Given the description of an element on the screen output the (x, y) to click on. 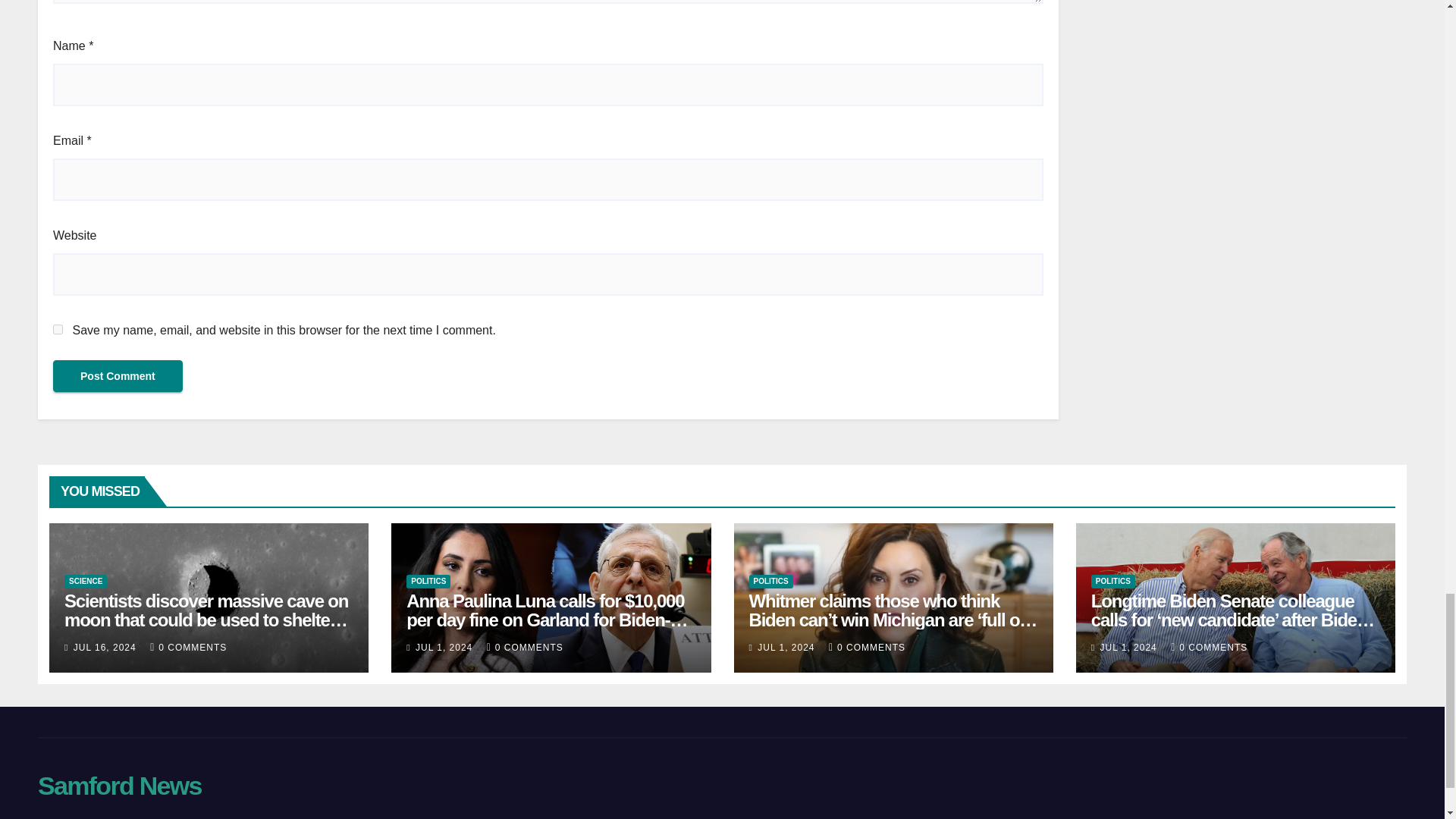
Post Comment (117, 376)
yes (57, 329)
Post Comment (117, 376)
